Given the description of an element on the screen output the (x, y) to click on. 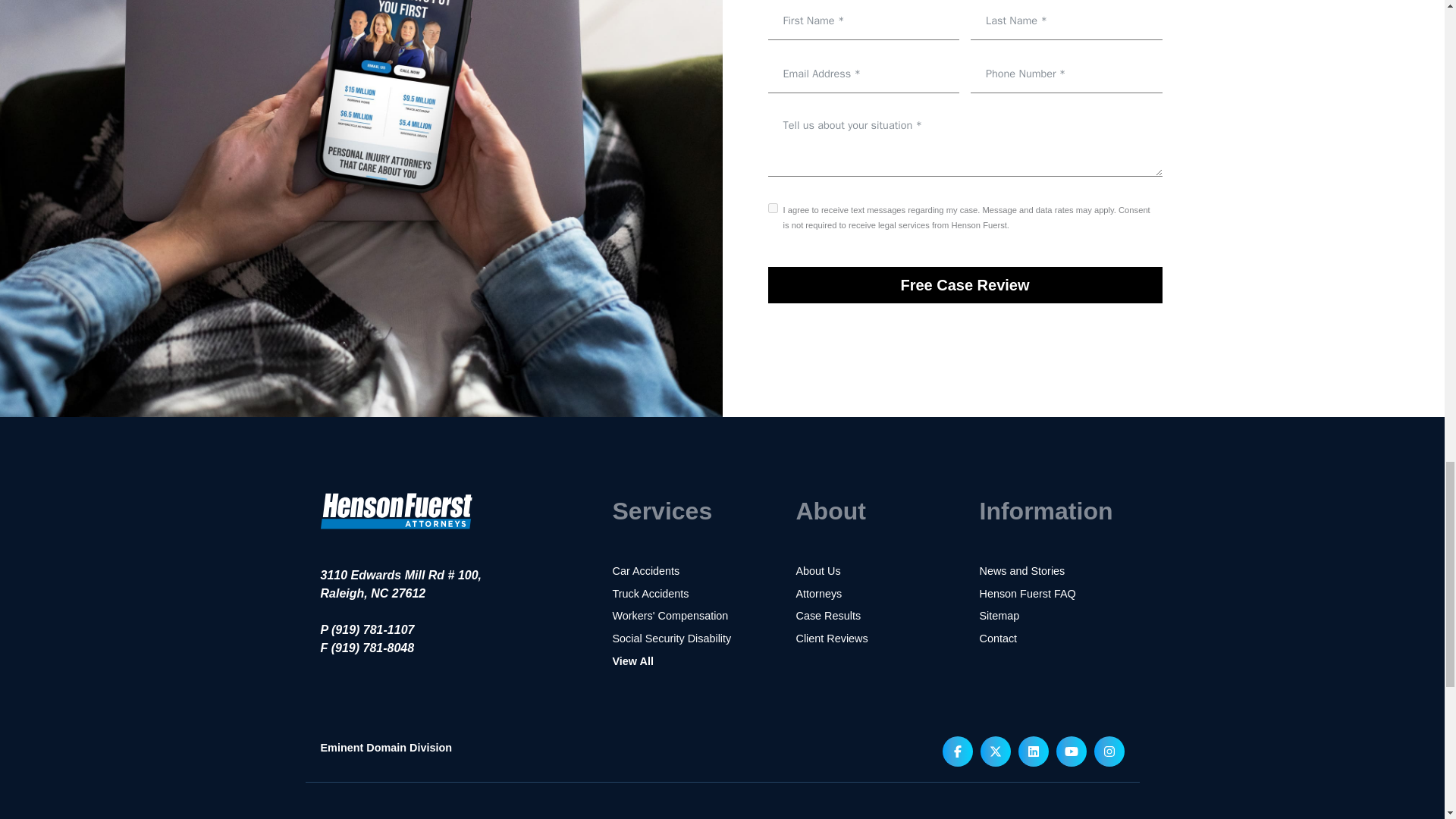
Home (395, 540)
on (772, 207)
